Given the description of an element on the screen output the (x, y) to click on. 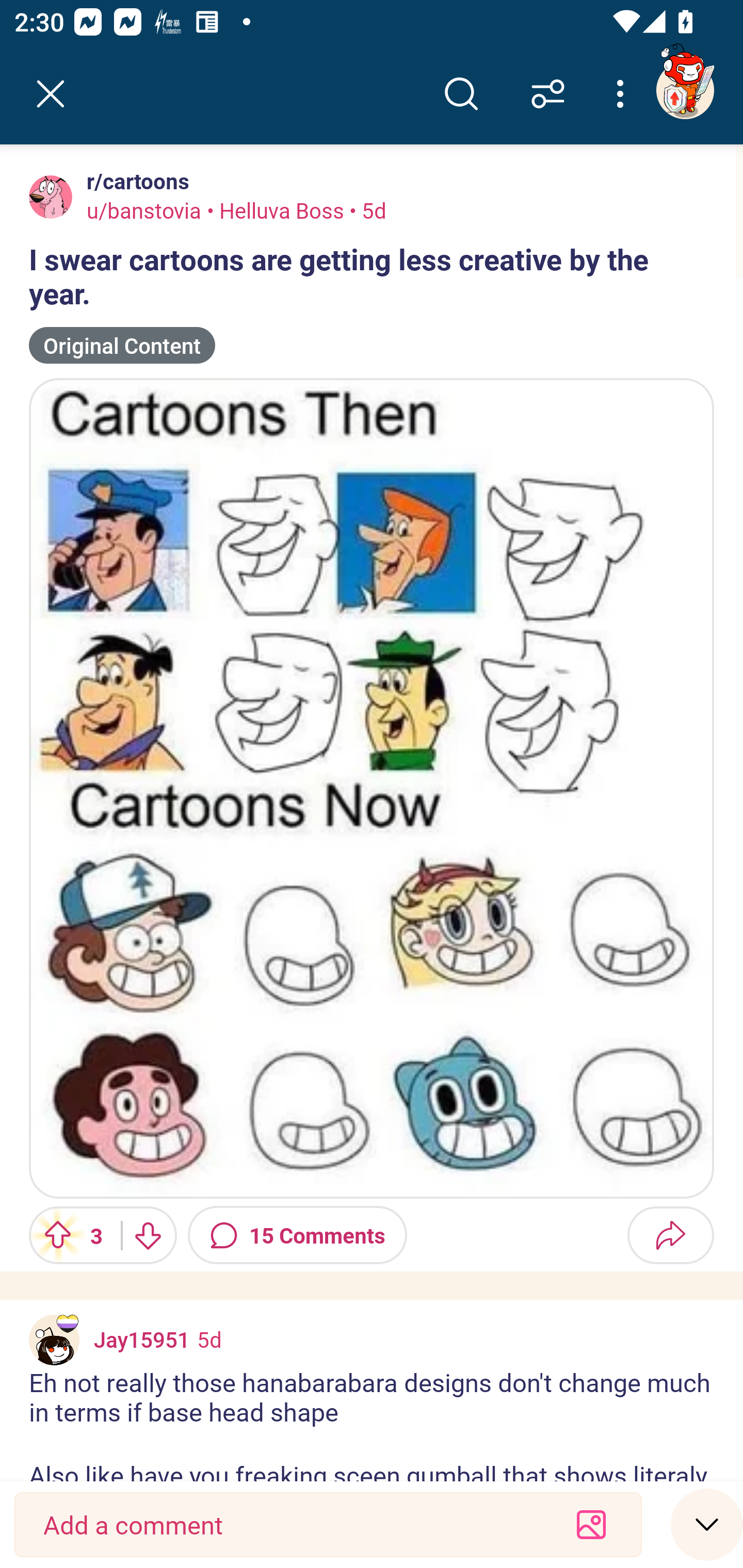
Back (50, 93)
TestAppium002 account (685, 90)
Search comments (460, 93)
Sort comments (547, 93)
More options (623, 93)
r/cartoons (134, 181)
Avatar (50, 196)
u/banstovia (144, 210)
Original Content (121, 345)
Image (371, 787)
Upvote 3 (67, 1234)
Downvote (146, 1234)
15 Comments (297, 1234)
Share (670, 1234)
Custom avatar (53, 1339)
5d (209, 1338)
Speed read (706, 1524)
Add a comment (291, 1524)
Add an image (590, 1524)
